Given the description of an element on the screen output the (x, y) to click on. 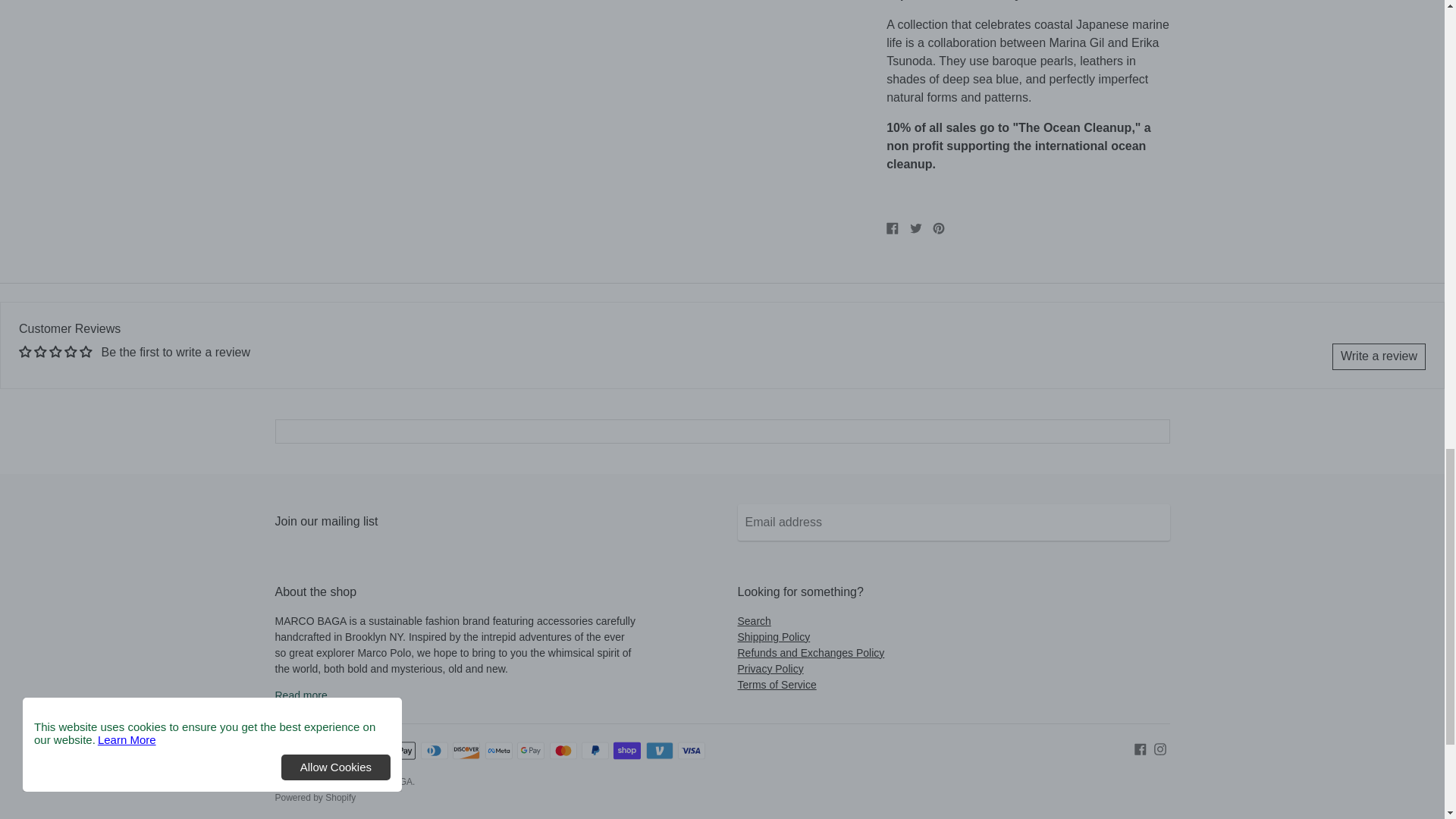
Diners Club (434, 751)
PayPal (594, 751)
About us (300, 695)
Venmo (659, 751)
Visa (691, 751)
Meta Pay (498, 751)
MARCO BAGA on Instagram (1160, 748)
Google Pay (530, 751)
MARCO BAGA on Facebook (1140, 748)
American Express (370, 751)
Discover (466, 751)
Shop Pay (626, 751)
Mastercard (563, 751)
Apple Pay (401, 751)
